Given the description of an element on the screen output the (x, y) to click on. 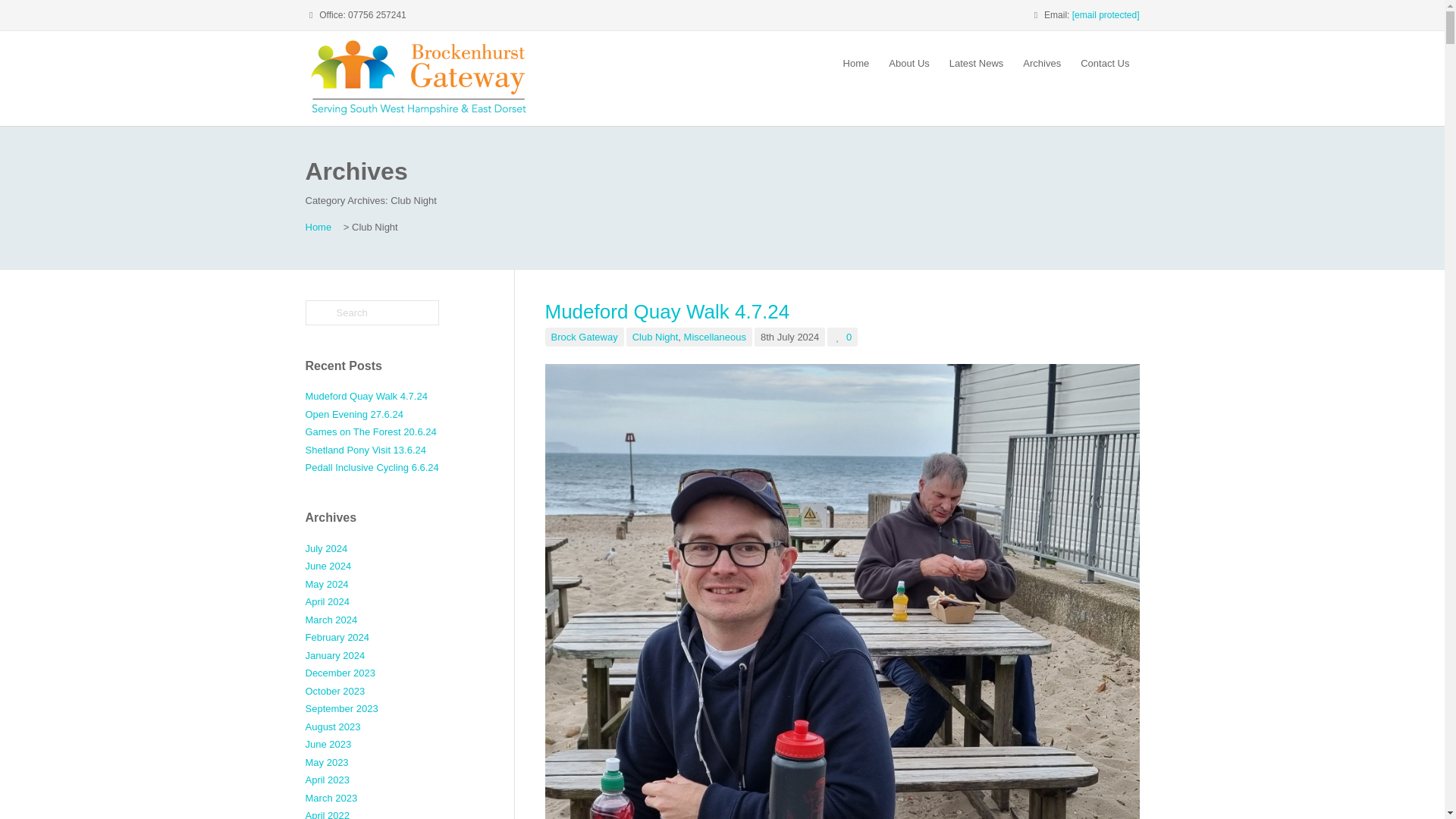
Miscellaneous (714, 337)
Go to Home. (317, 226)
Search (371, 312)
Like this (841, 337)
Home (317, 226)
0 (841, 337)
Brockenhurst Gateway (418, 77)
Archives (1041, 63)
Brock Gateway (583, 337)
About Us (909, 63)
Search (371, 312)
Latest News (976, 63)
Club Night (654, 337)
Mudeford Quay Walk 4.7.24 (666, 311)
Contact Us (1104, 63)
